Given the description of an element on the screen output the (x, y) to click on. 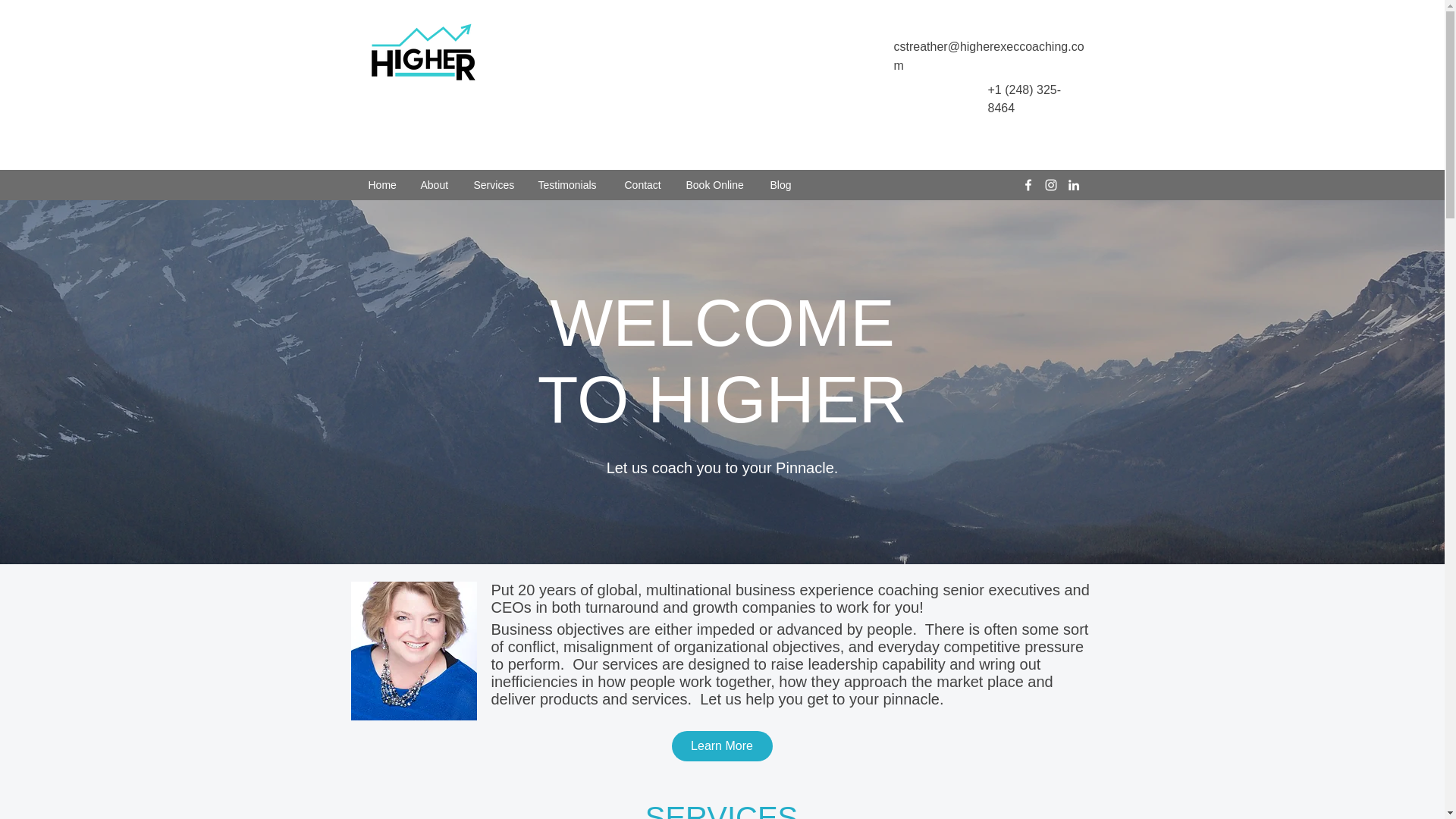
Blog (780, 184)
About (436, 184)
Testimonials (568, 184)
Learn More (722, 746)
Book Online (716, 184)
Services (495, 184)
Home (382, 184)
Contact (643, 184)
